Given the description of an element on the screen output the (x, y) to click on. 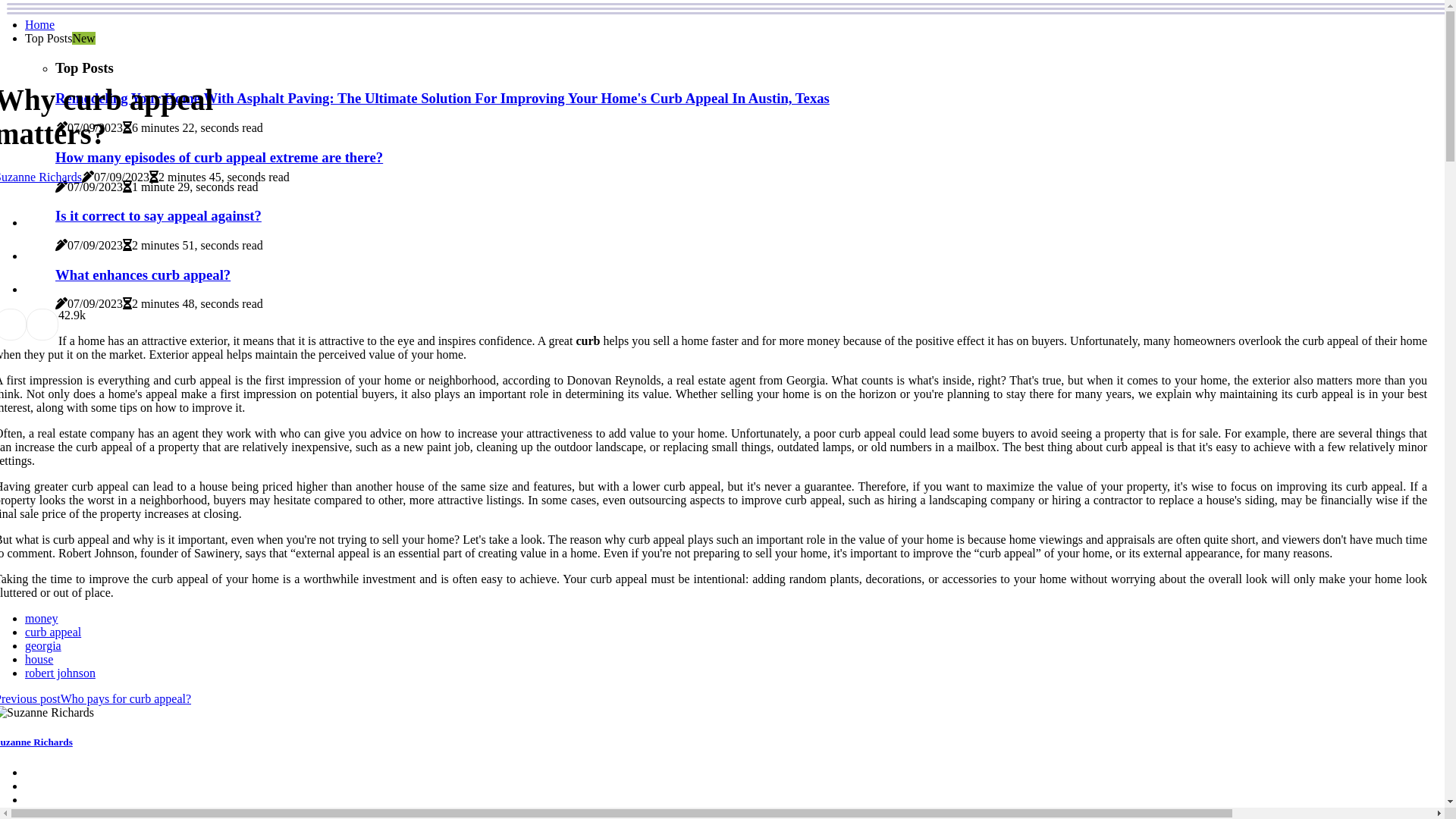
georgia Element type: text (43, 645)
Is it correct to say appeal against? Element type: text (158, 215)
robert johnson Element type: text (60, 672)
money Element type: text (41, 617)
curb appeal Element type: text (53, 631)
Top PostsNew Element type: text (60, 37)
What enhances curb appeal? Element type: text (142, 274)
Home Element type: text (39, 24)
house Element type: text (39, 658)
How many episodes of curb appeal extreme are there? Element type: text (218, 157)
4 Element type: text (61, 314)
